Given the description of an element on the screen output the (x, y) to click on. 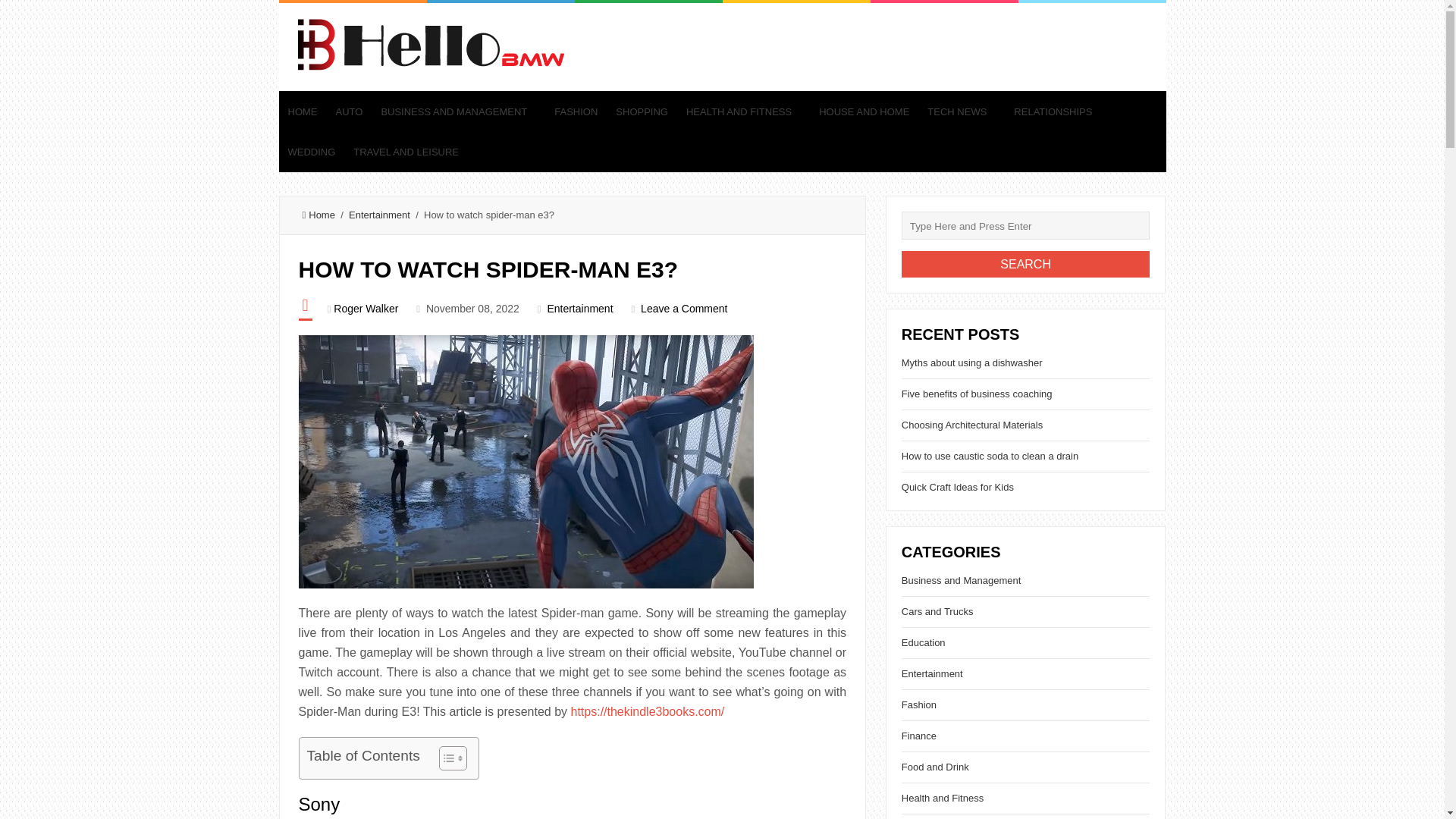
Leave a Comment (683, 308)
Entertainment (579, 308)
TECH NEWS (961, 111)
SHOPPING (642, 111)
FASHION (575, 111)
HOUSE AND HOME (863, 111)
BUSINESS AND MANAGEMENT (457, 111)
Roger Walker (365, 308)
November 8, 2022 (472, 308)
TRAVEL AND LEISURE (405, 151)
Entertainment (379, 214)
Home (317, 214)
Posts by Roger Walker (365, 308)
HEALTH AND FITNESS (743, 111)
HOME (302, 111)
